Given the description of an element on the screen output the (x, y) to click on. 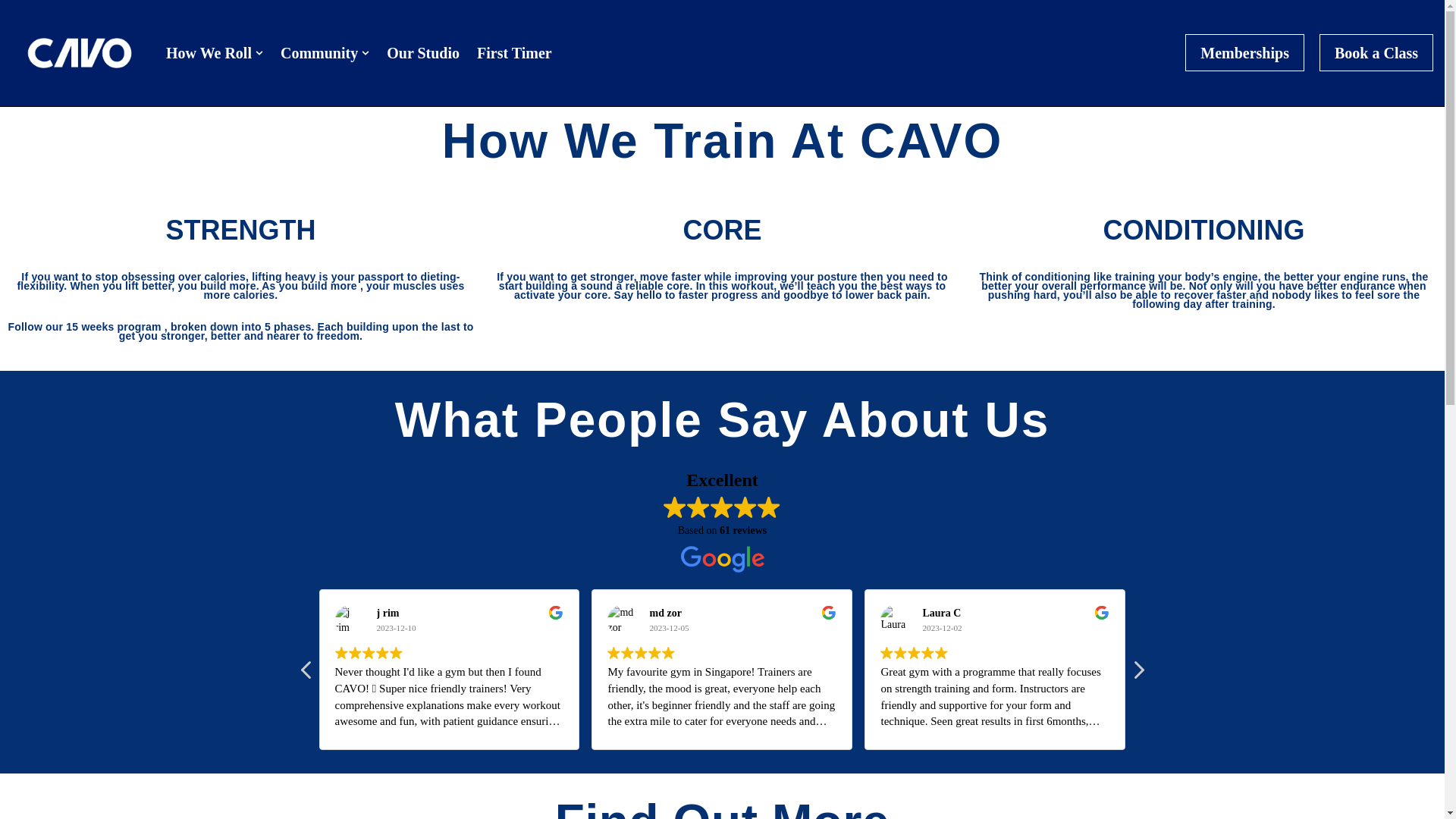
Skip to content (11, 31)
Page 6 (1204, 289)
Our Studio (423, 52)
Book a Class (1376, 52)
How We Roll (208, 52)
Page 6 (240, 305)
Page 6 (722, 285)
Memberships (1243, 52)
Community (319, 52)
First Timer (514, 52)
